Given the description of an element on the screen output the (x, y) to click on. 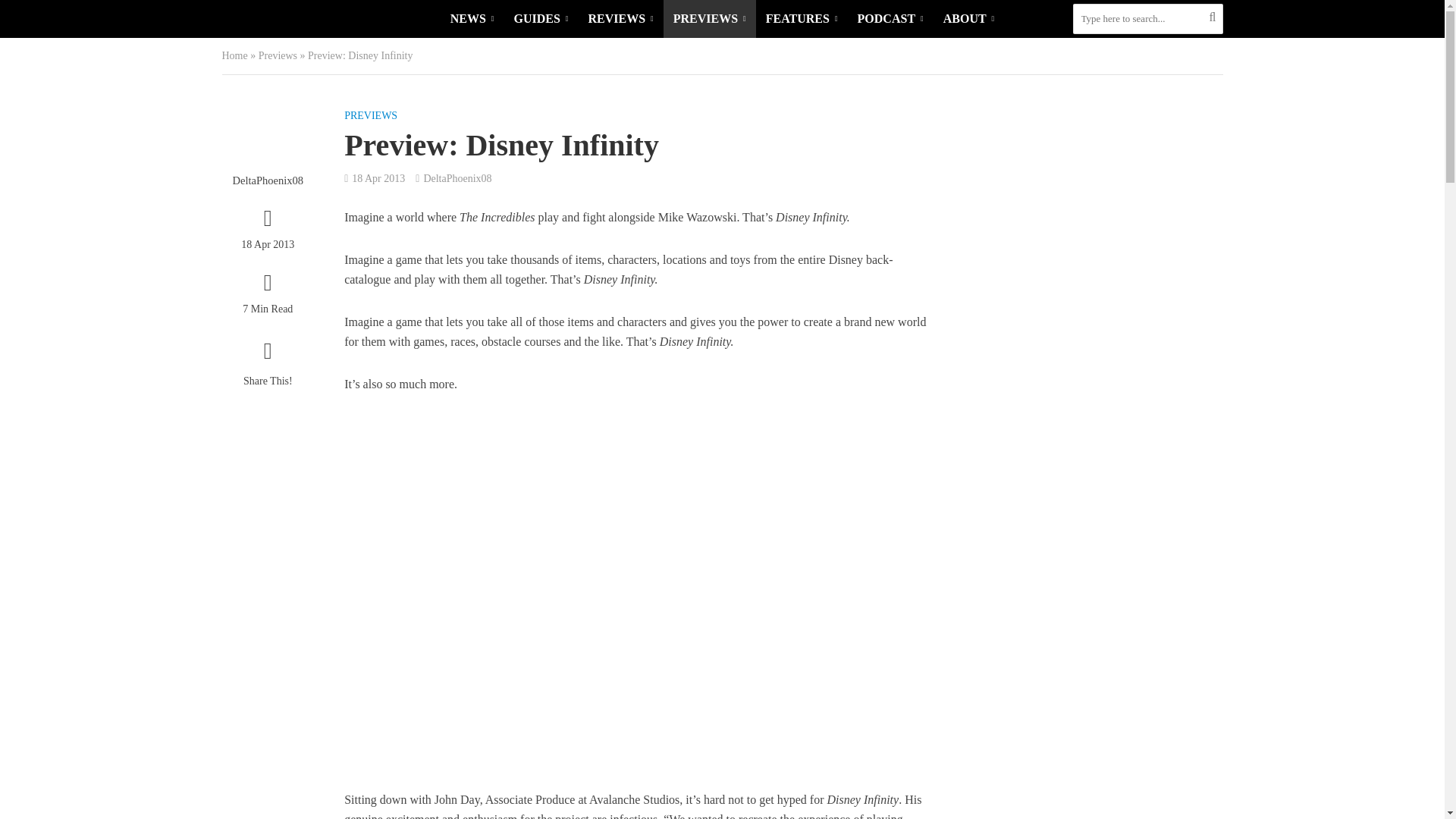
REVIEWS (620, 18)
GUIDES (540, 18)
NEWS (472, 18)
